Given the description of an element on the screen output the (x, y) to click on. 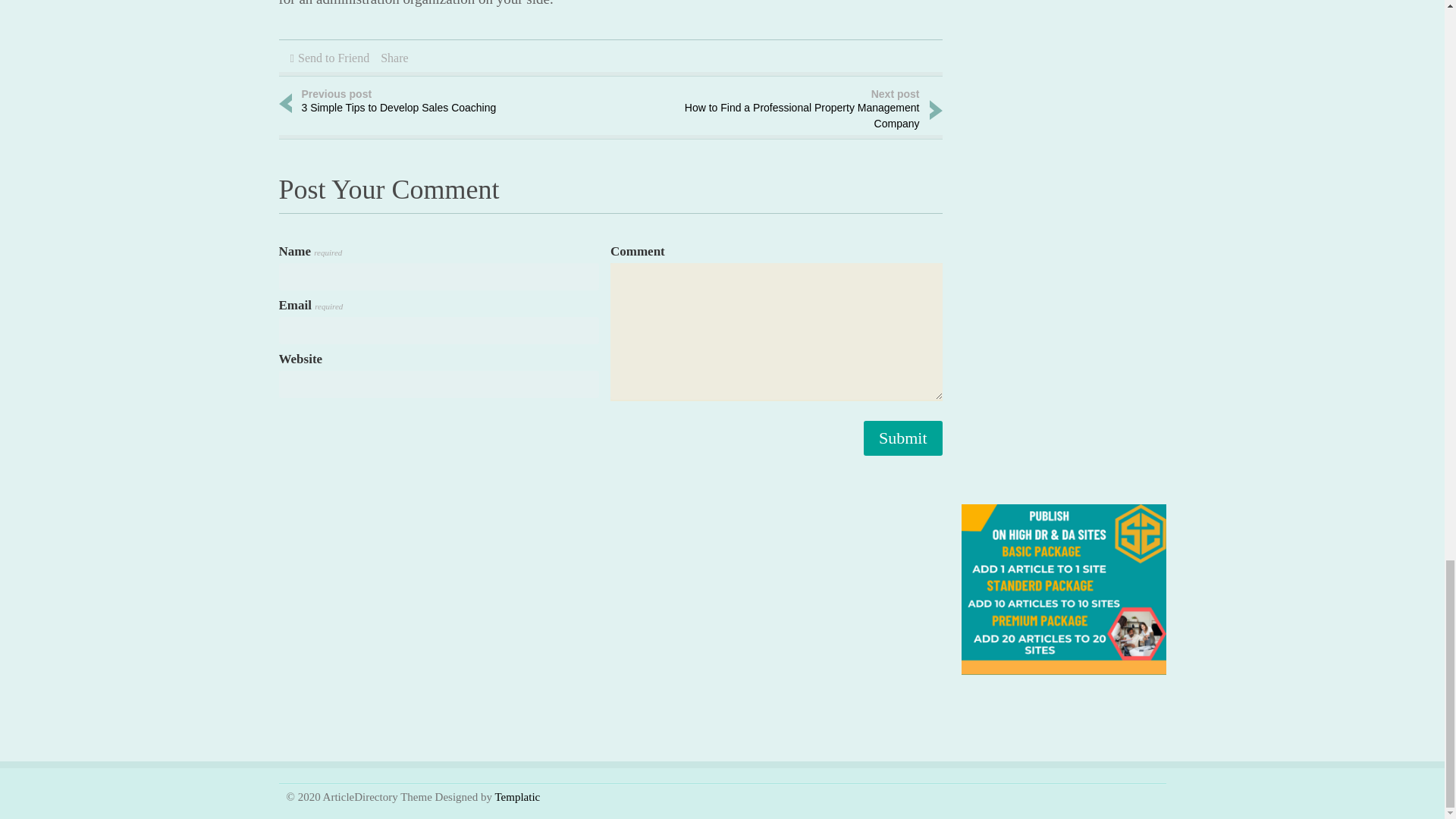
Templatic (517, 797)
Submit (902, 437)
Submit (902, 437)
Share (393, 57)
Send to Friend (423, 102)
